Given the description of an element on the screen output the (x, y) to click on. 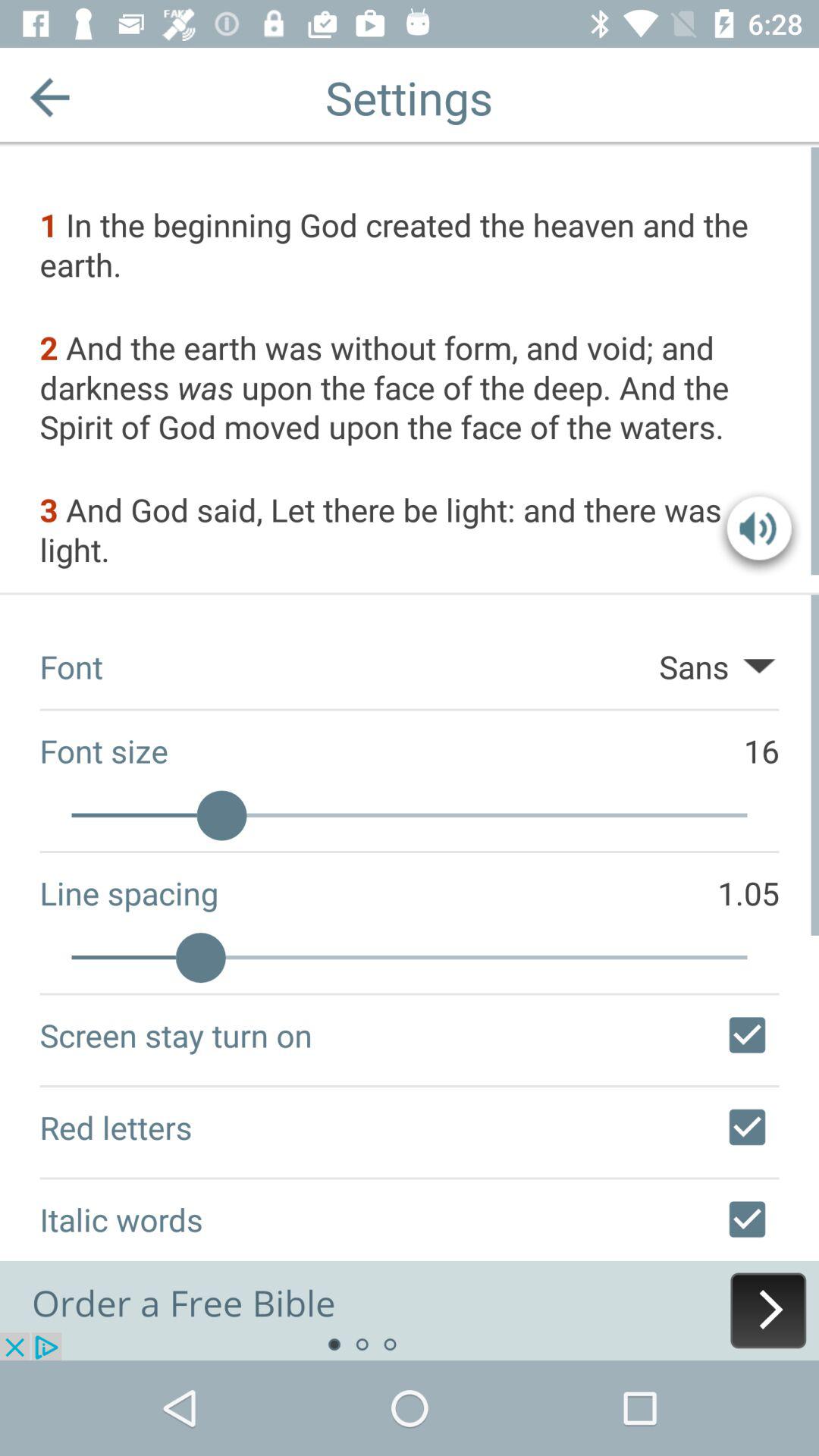
toggle screen stay turn on (747, 1034)
